Given the description of an element on the screen output the (x, y) to click on. 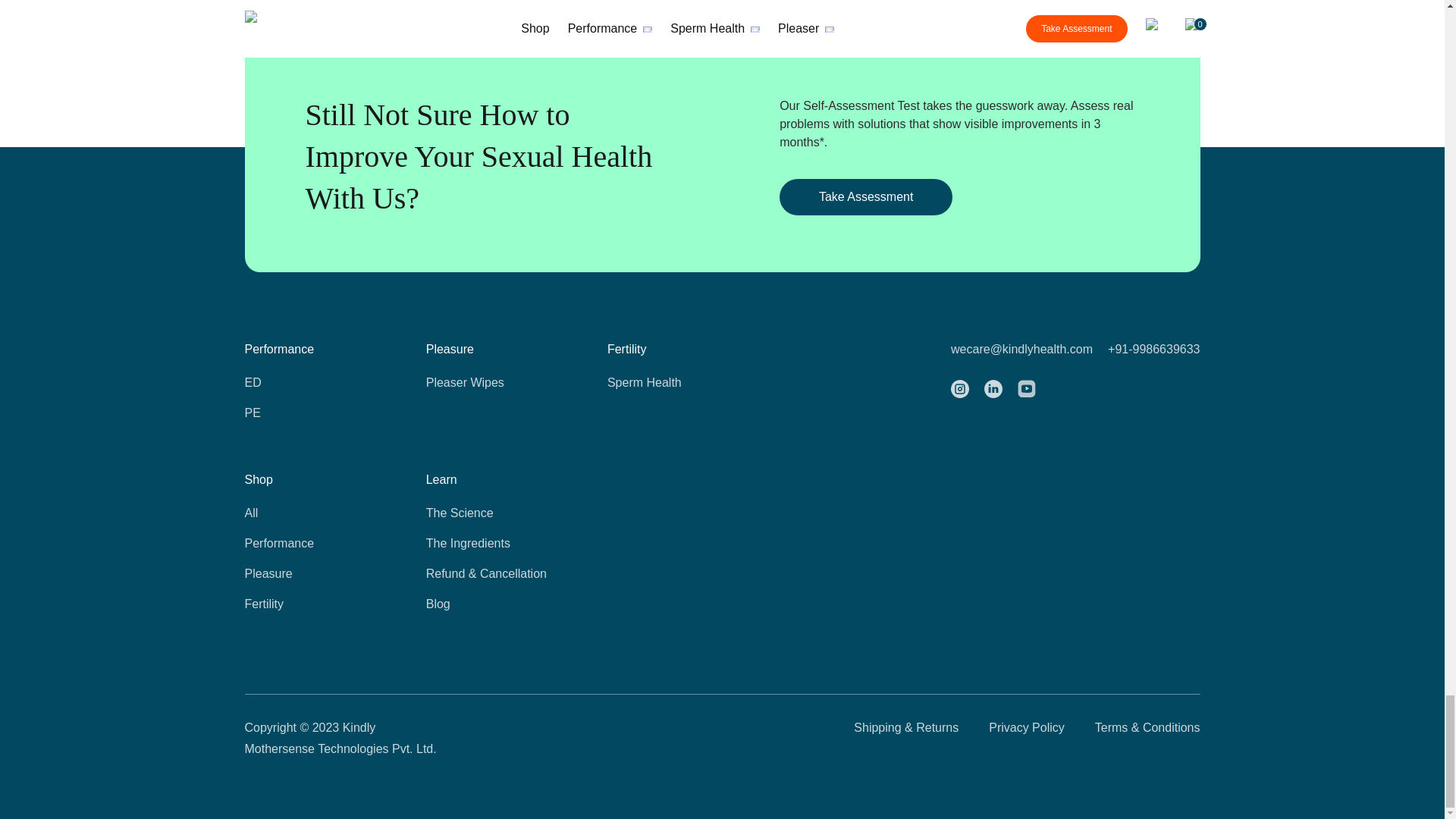
Pleasure (304, 574)
The Ingredients (486, 543)
The Science (486, 513)
Take Assessment (865, 197)
Privacy Policy (1026, 738)
All (304, 513)
Pleaser Wipes (486, 382)
PE (304, 413)
Sperm Health (667, 382)
Performance (304, 543)
